Given the description of an element on the screen output the (x, y) to click on. 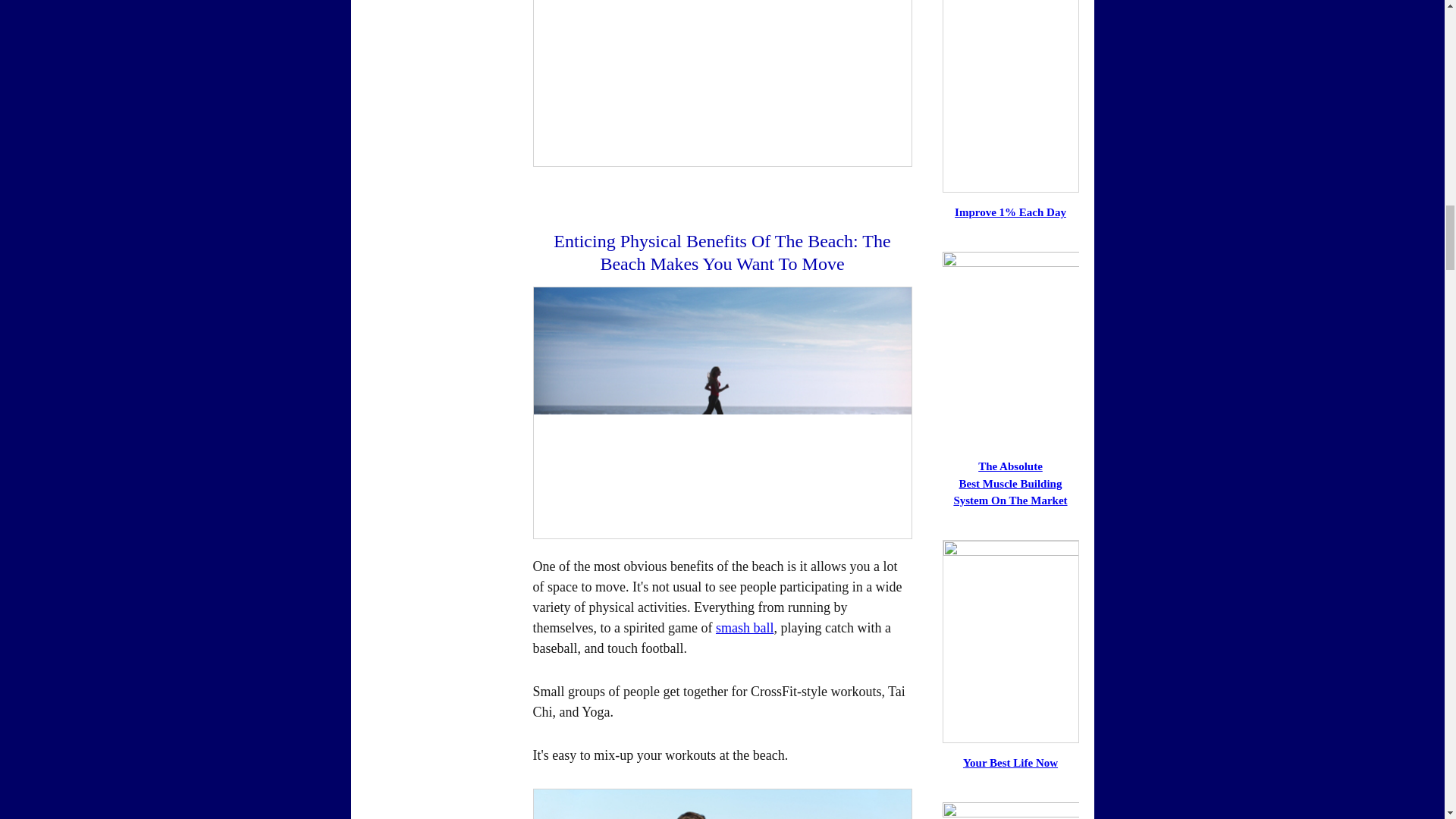
smash ball (745, 627)
Total relaxation is another benefit of the beach. (721, 83)
